Given the description of an element on the screen output the (x, y) to click on. 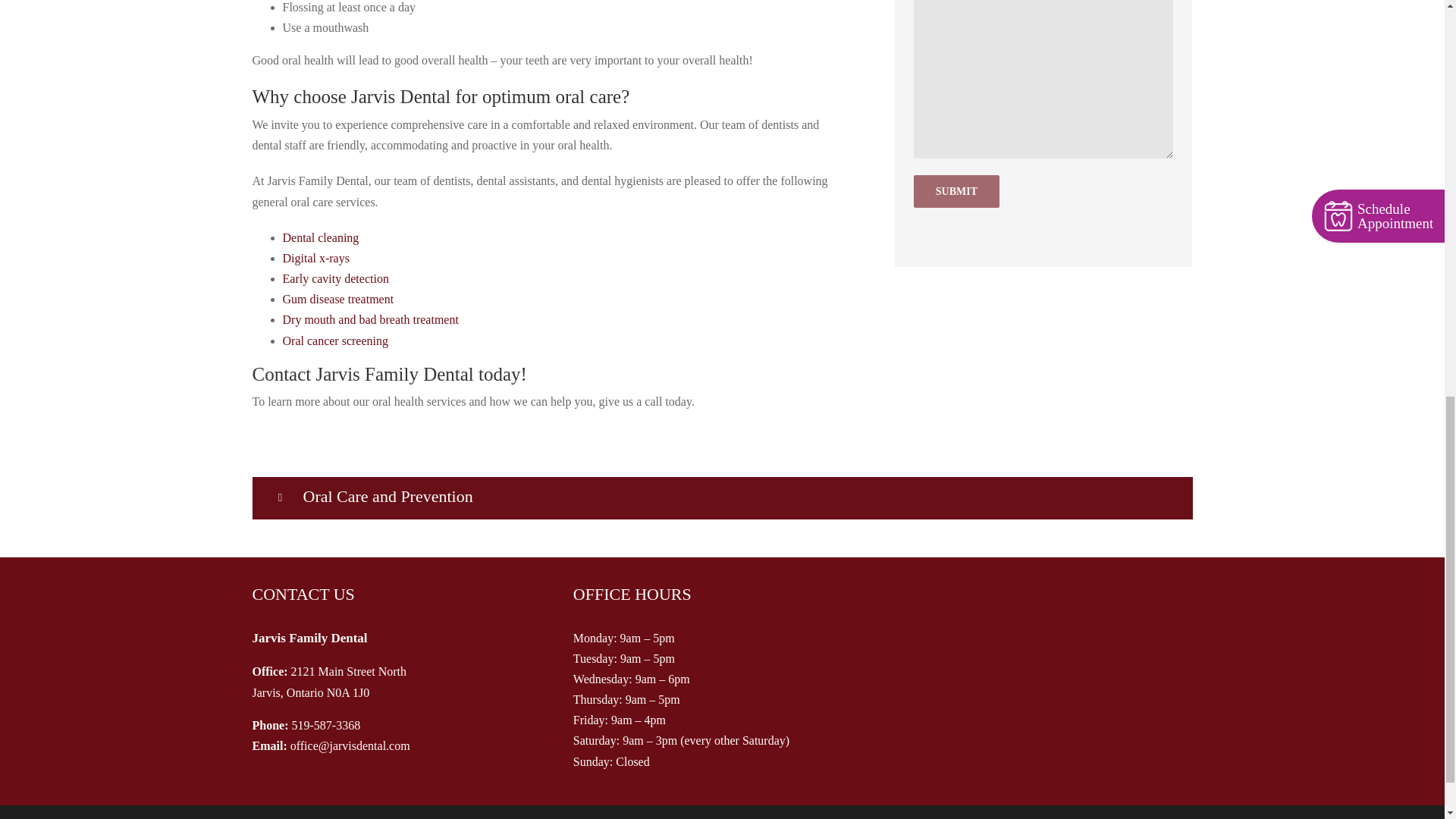
Submit (956, 191)
